Given the description of an element on the screen output the (x, y) to click on. 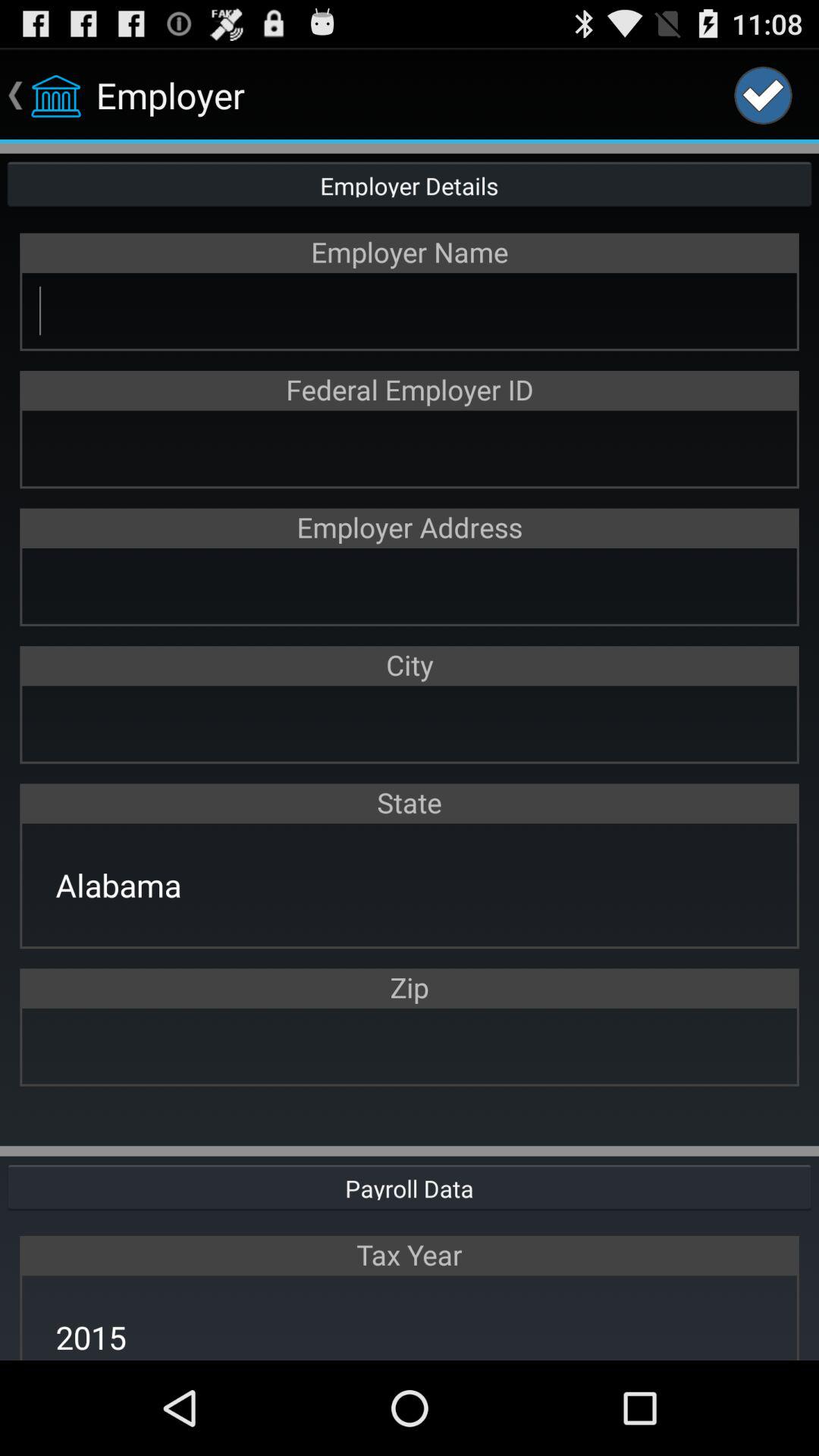
add address (409, 586)
